Given the description of an element on the screen output the (x, y) to click on. 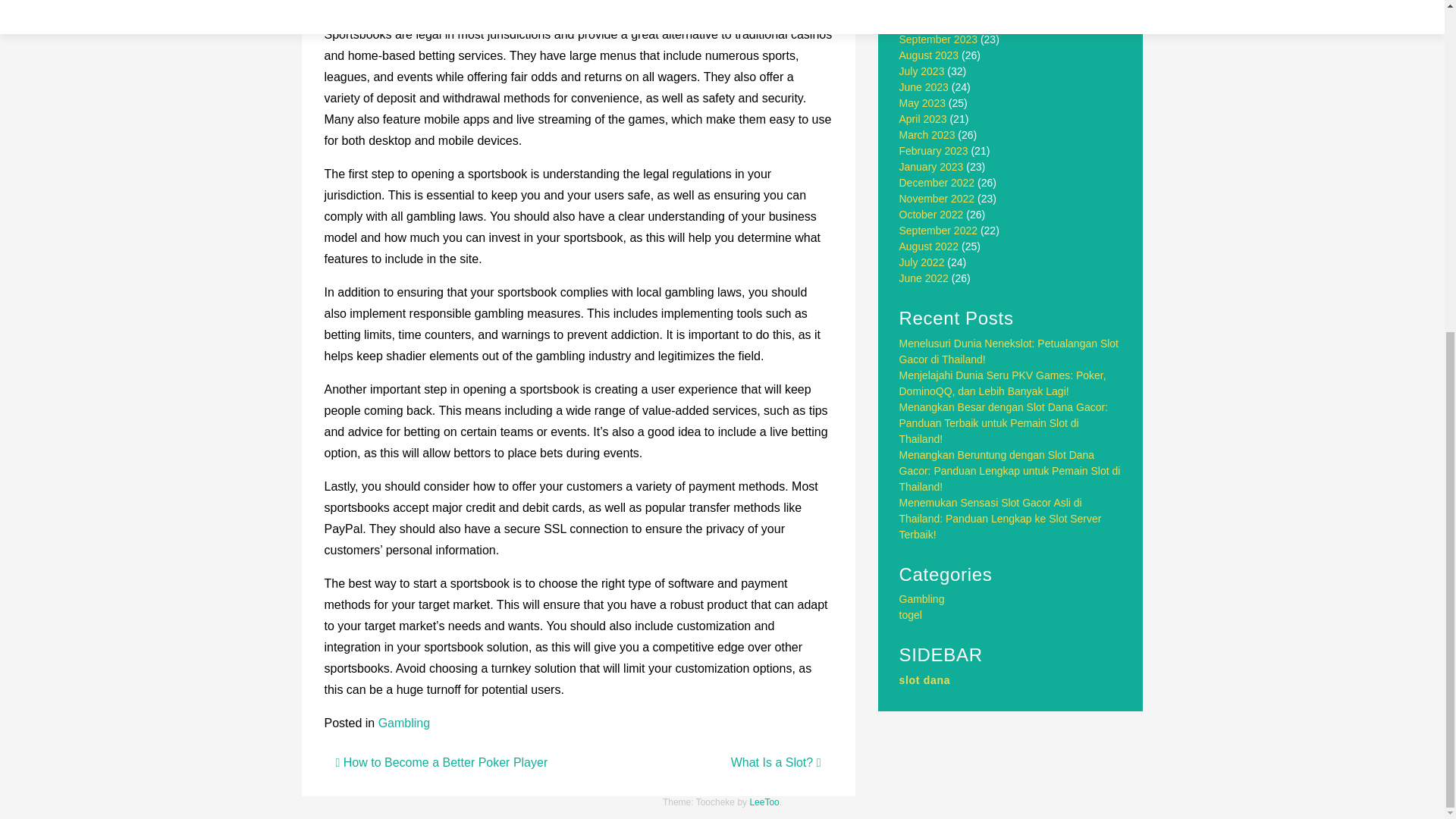
June 2022 (924, 277)
August 2022 (929, 246)
July 2023 (921, 70)
July 2022 (921, 262)
May 2023 (921, 102)
March 2023 (927, 134)
November 2022 (937, 198)
December 2022 (937, 182)
January 2023 (931, 166)
September 2022 (938, 230)
August 2023 (929, 55)
April 2023 (923, 119)
